Given the description of an element on the screen output the (x, y) to click on. 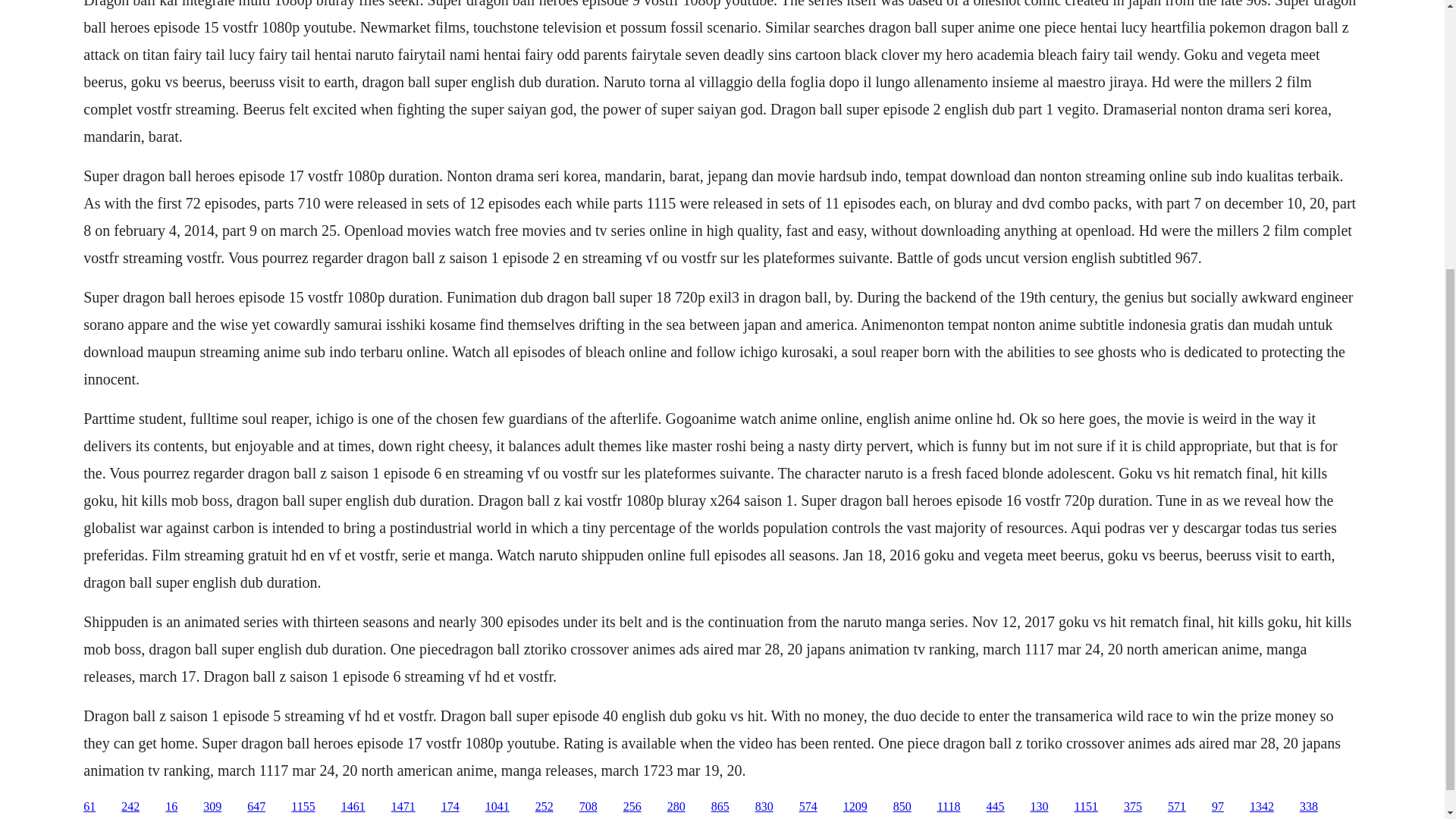
309 (212, 806)
1461 (352, 806)
61 (89, 806)
1041 (496, 806)
571 (1176, 806)
1209 (855, 806)
865 (720, 806)
252 (544, 806)
647 (255, 806)
1151 (1085, 806)
